Given the description of an element on the screen output the (x, y) to click on. 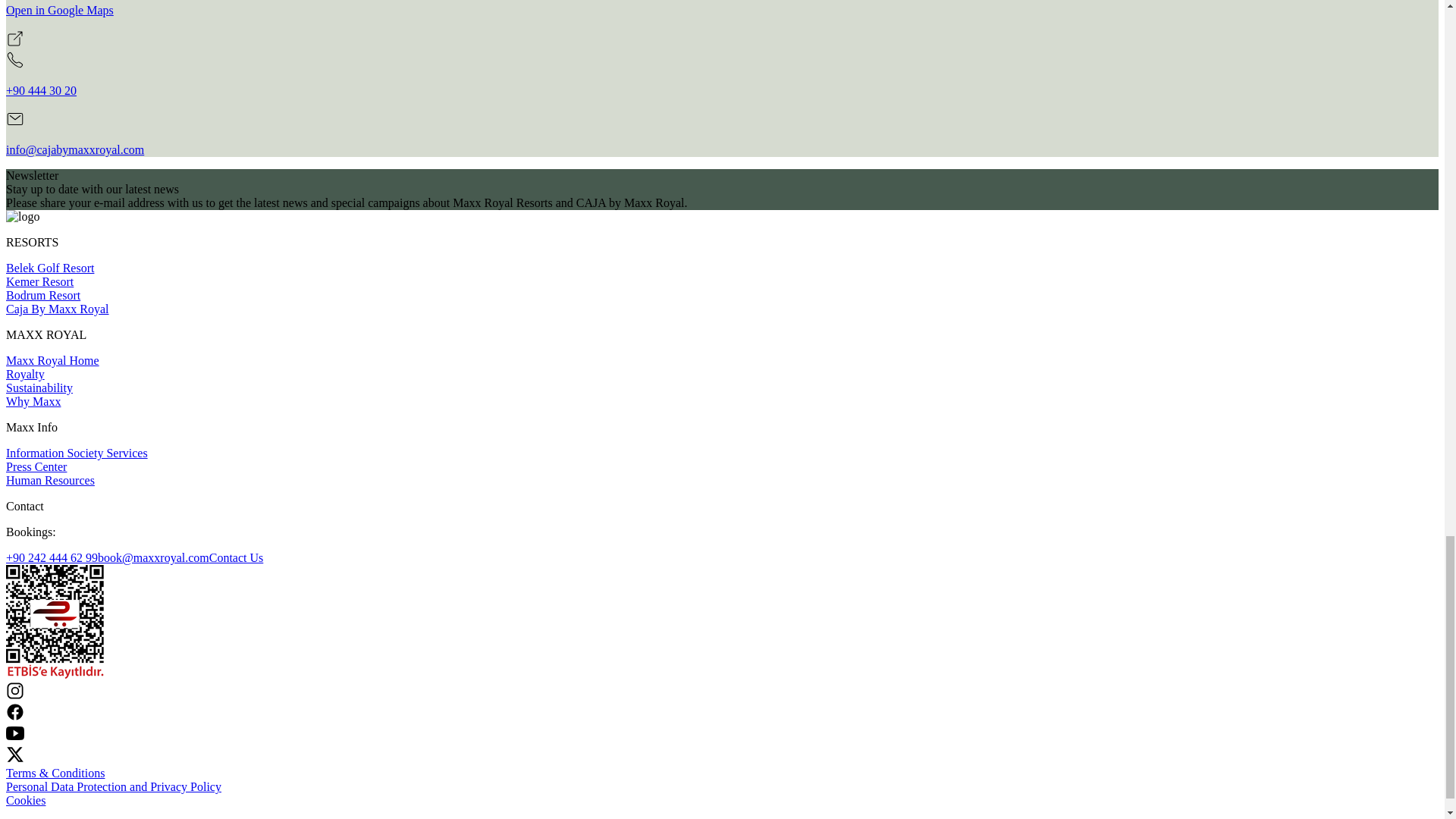
ETBIS QR code (54, 674)
Belek Golf Resort (49, 267)
